Given the description of an element on the screen output the (x, y) to click on. 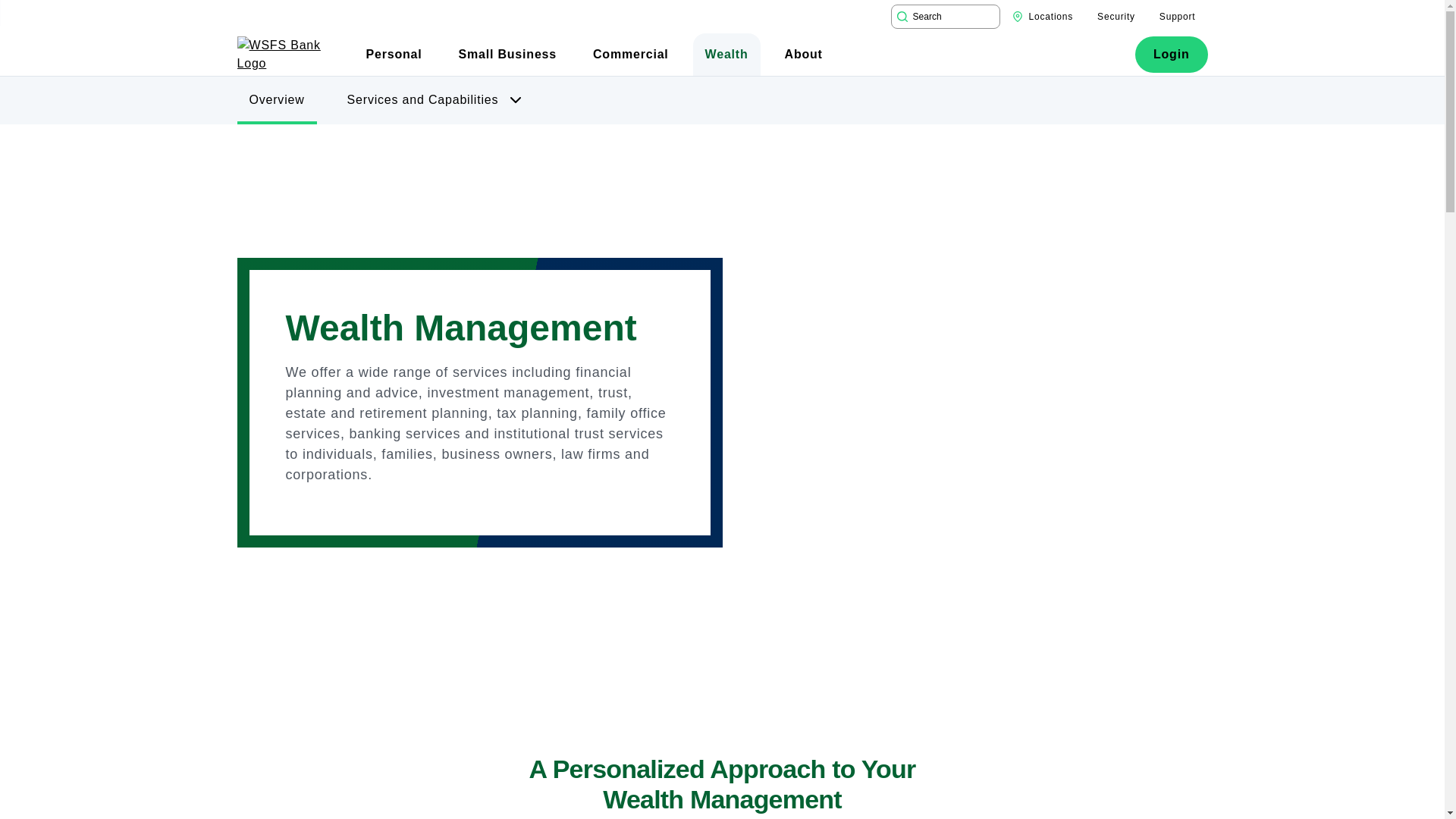
Personal (393, 54)
